Given the description of an element on the screen output the (x, y) to click on. 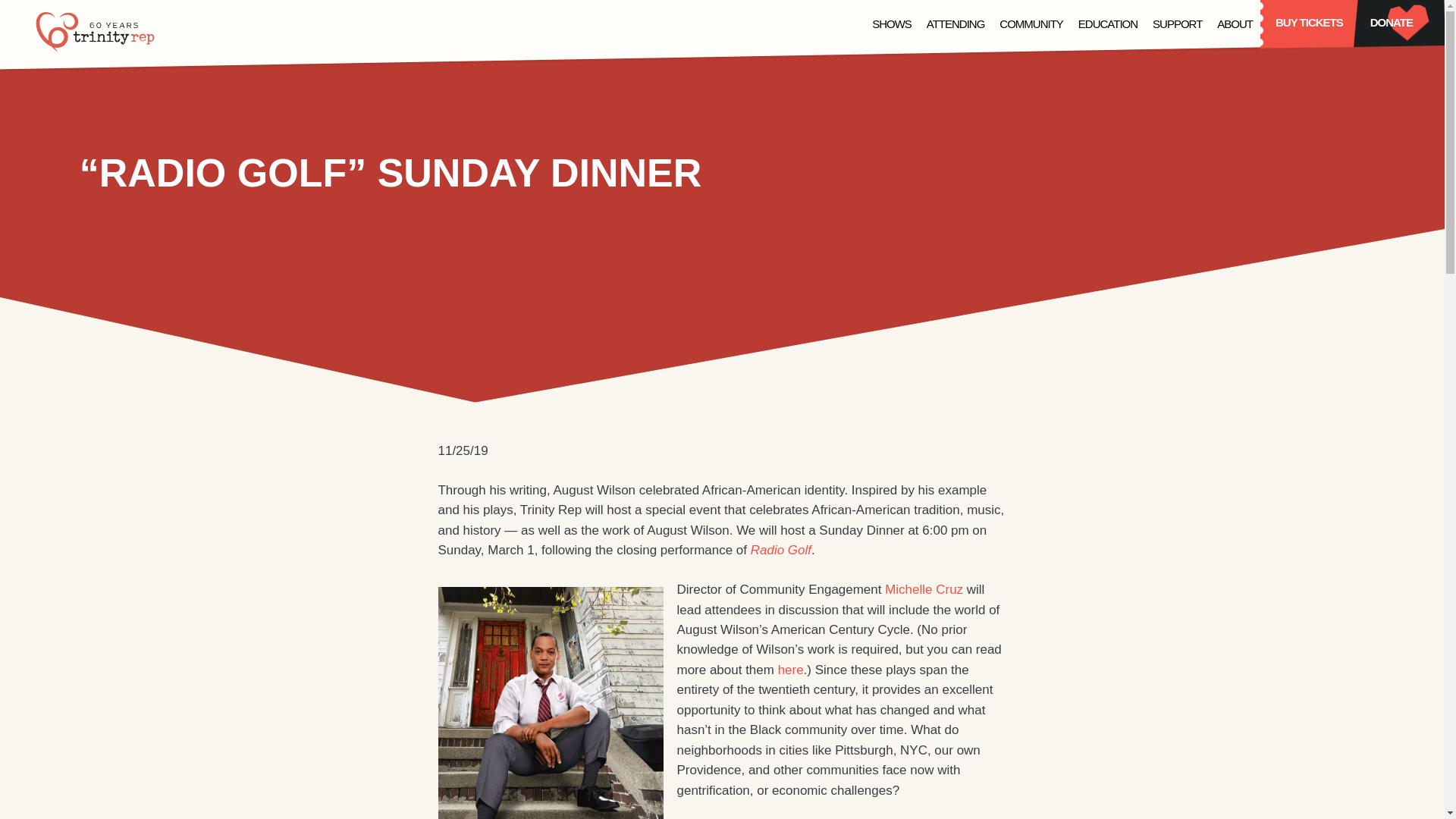
ABOUT (1234, 25)
SHOWS (891, 25)
Radio Golf (780, 549)
ATTENDING (955, 25)
EDUCATION (1107, 25)
here (790, 669)
COMMUNITY (1030, 25)
Michelle Cruz (923, 589)
Trinity Repertory Company (95, 31)
BUY TICKETS (1309, 24)
SUPPORT (1176, 25)
